Given the description of an element on the screen output the (x, y) to click on. 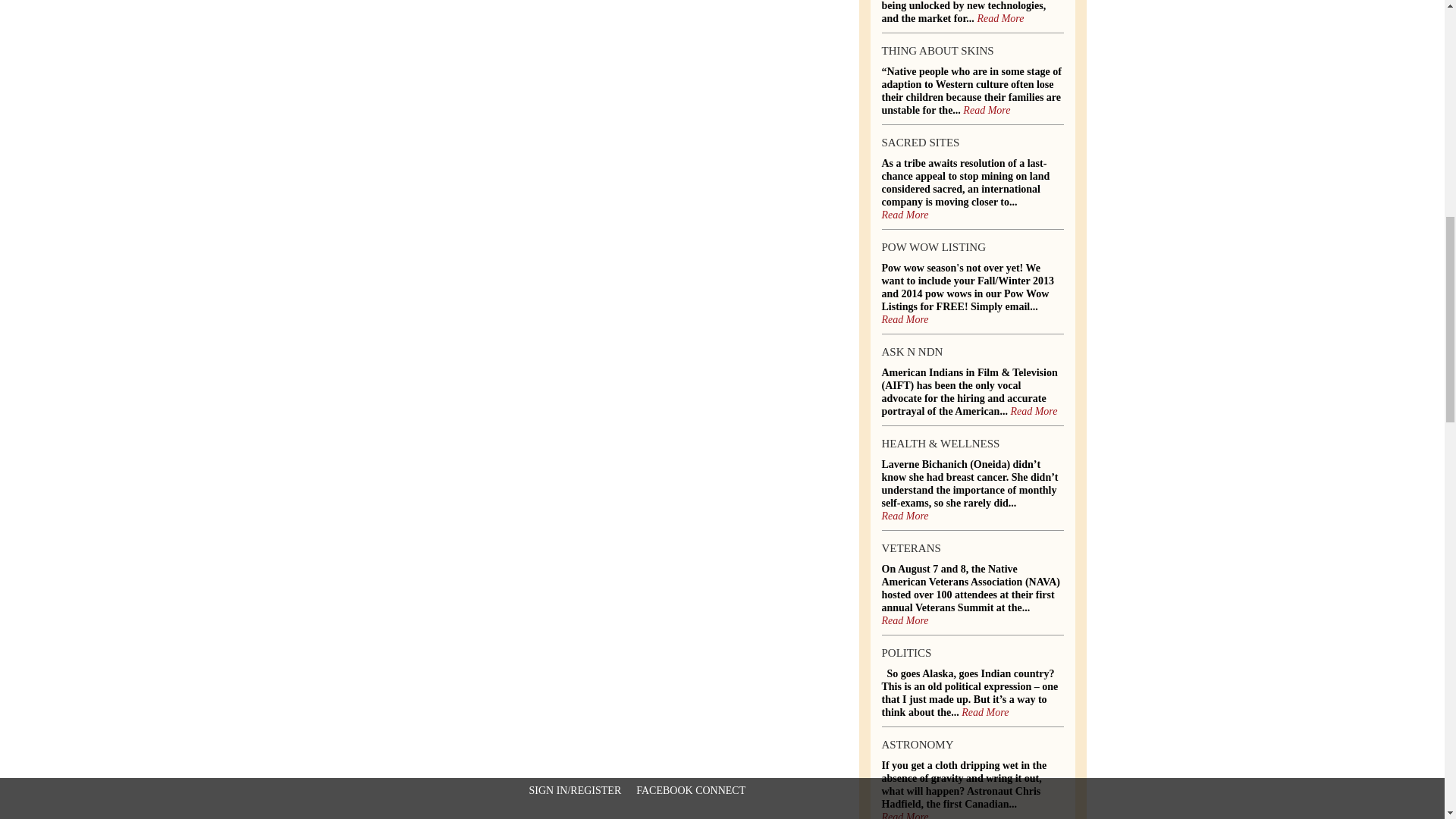
Read More (986, 110)
Read More (1033, 411)
Read More (904, 215)
Read More (904, 516)
Read More (904, 319)
Read More (999, 19)
